Given the description of an element on the screen output the (x, y) to click on. 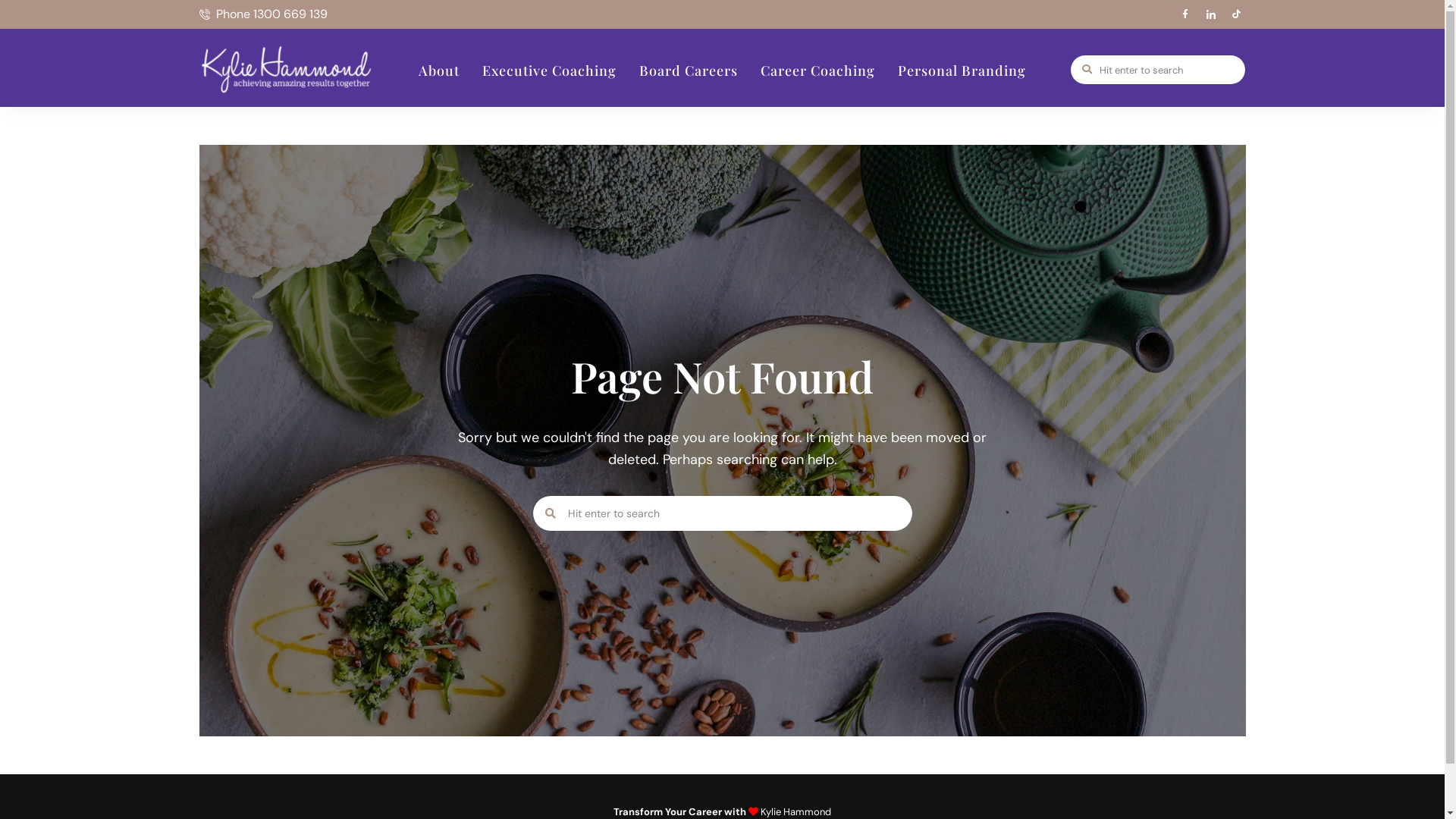
Personal Branding Element type: text (961, 70)
Board Careers Element type: text (688, 70)
Career Coaching Element type: text (817, 70)
Executive Coaching Element type: text (548, 70)
About Element type: text (438, 70)
